Given the description of an element on the screen output the (x, y) to click on. 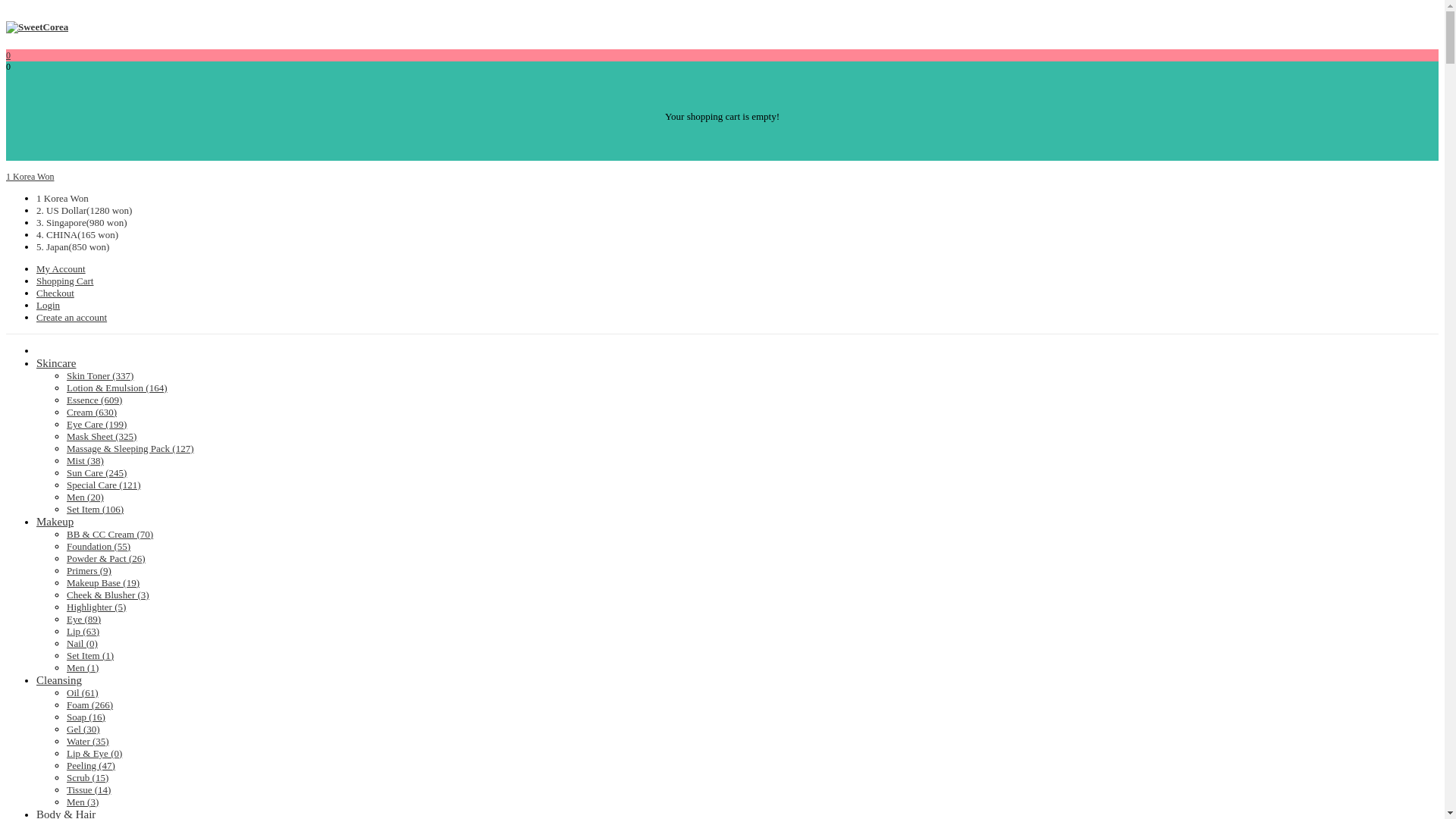
Skincare (55, 363)
Create an account (71, 317)
Makeup (55, 521)
SweetCorea (36, 27)
1 Korea Won (62, 197)
Shopping Cart (64, 280)
Checkout (55, 292)
Login (47, 305)
My Account (60, 268)
1 Korea Won (29, 176)
